Given the description of an element on the screen output the (x, y) to click on. 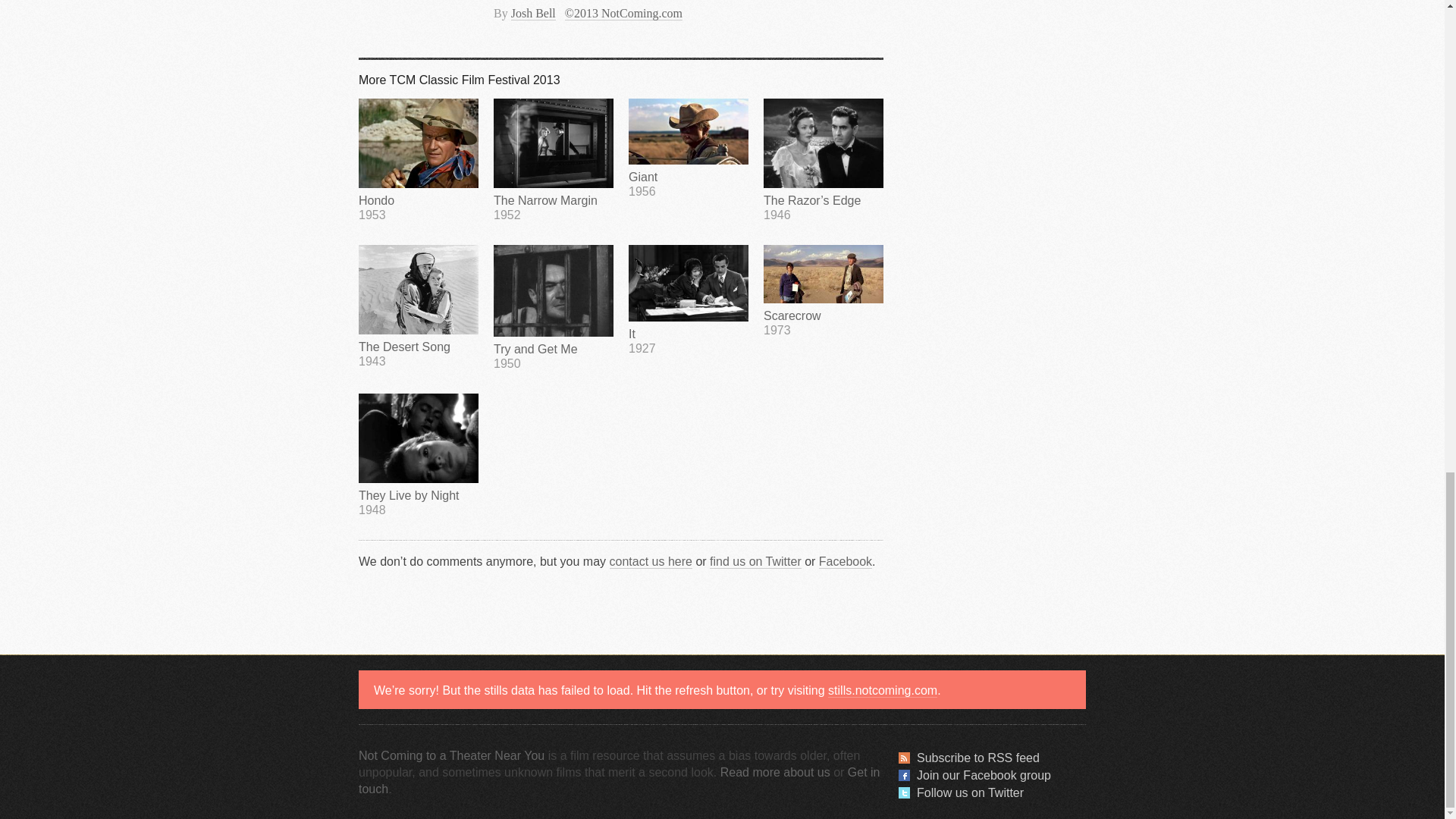
Josh Bell (533, 13)
The Desert Song (418, 306)
Get in touch (619, 780)
Not Coming to a Theater Near You (688, 299)
Subscribe to RSS feed (451, 755)
They Live by Night (688, 148)
Join our Facebook group (418, 454)
Try and Get Me (978, 756)
Follow us on Twitter (418, 454)
Read more about us (822, 290)
